Given the description of an element on the screen output the (x, y) to click on. 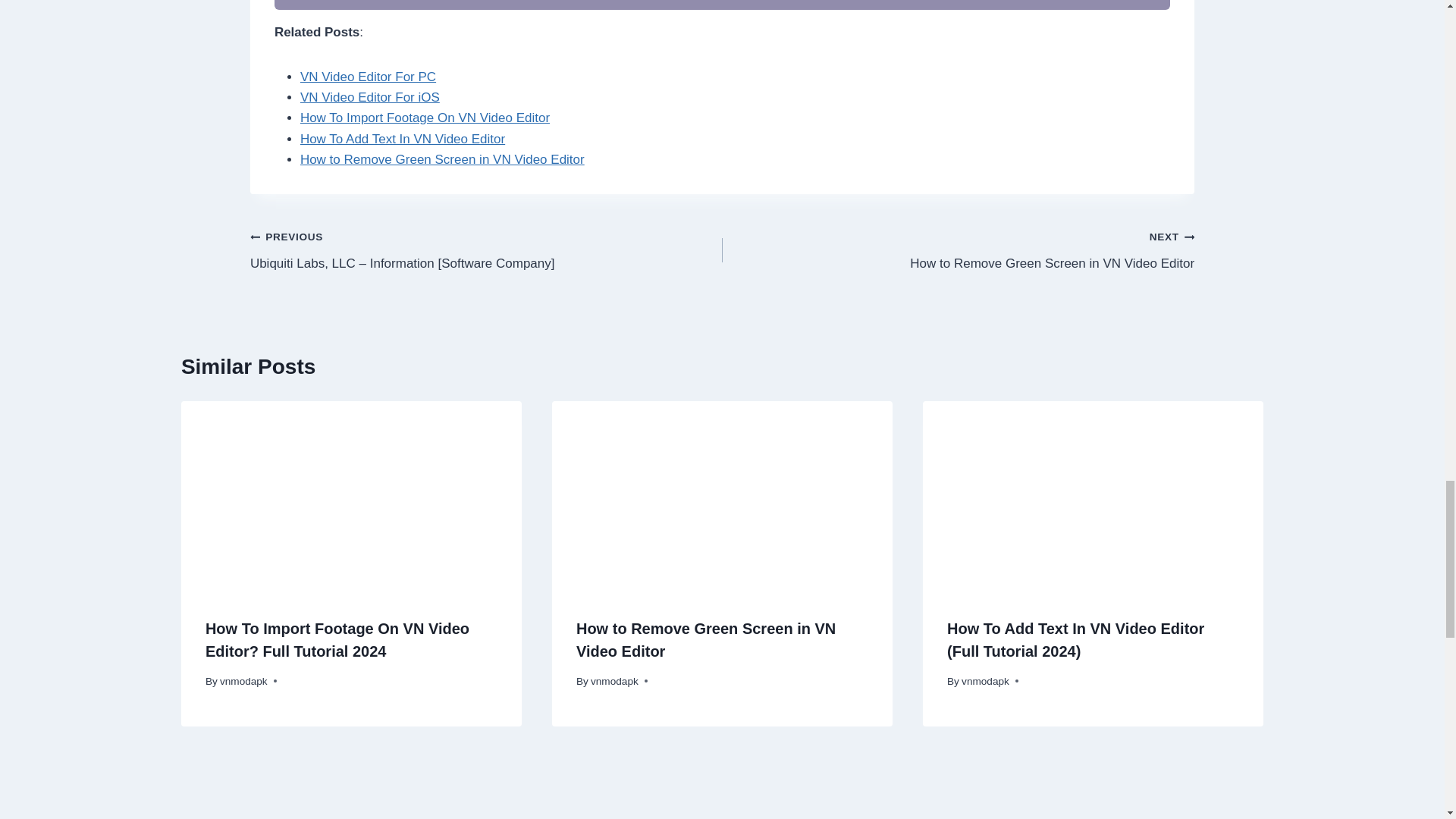
VN Video Editor For PC (367, 76)
How To Import Footage On VN Video Editor (424, 117)
How To Add Text In VN Video Editor (402, 138)
vnmodapk (243, 681)
How To Import Footage On VN Video Editor? Full Tutorial 2024 (336, 639)
Can I blur my videos for free? (957, 249)
How to Remove Green Screen in VN Video Editor (369, 97)
